Given the description of an element on the screen output the (x, y) to click on. 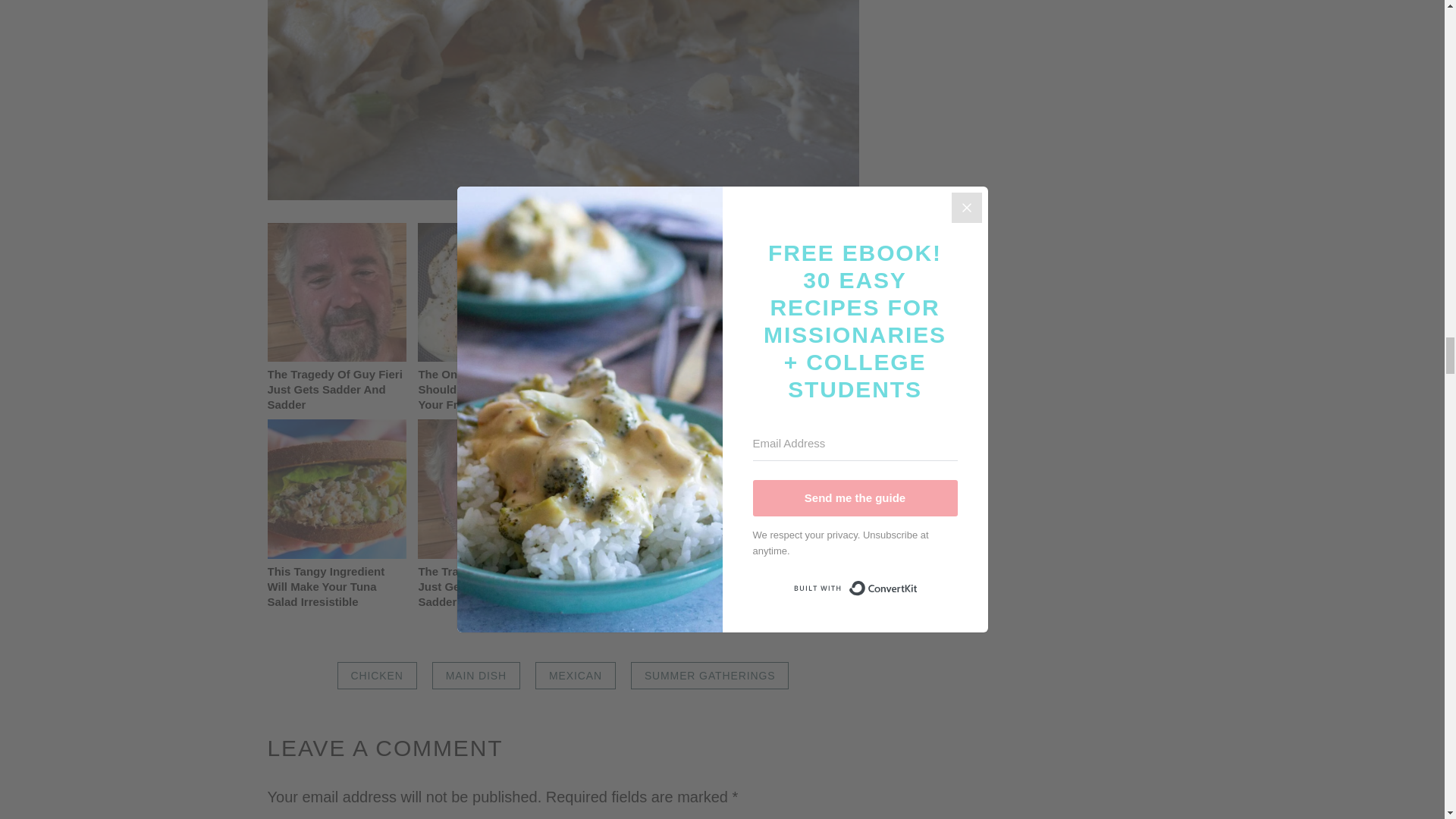
Family Favorite Chicken Enchiladas (562, 99)
